Given the description of an element on the screen output the (x, y) to click on. 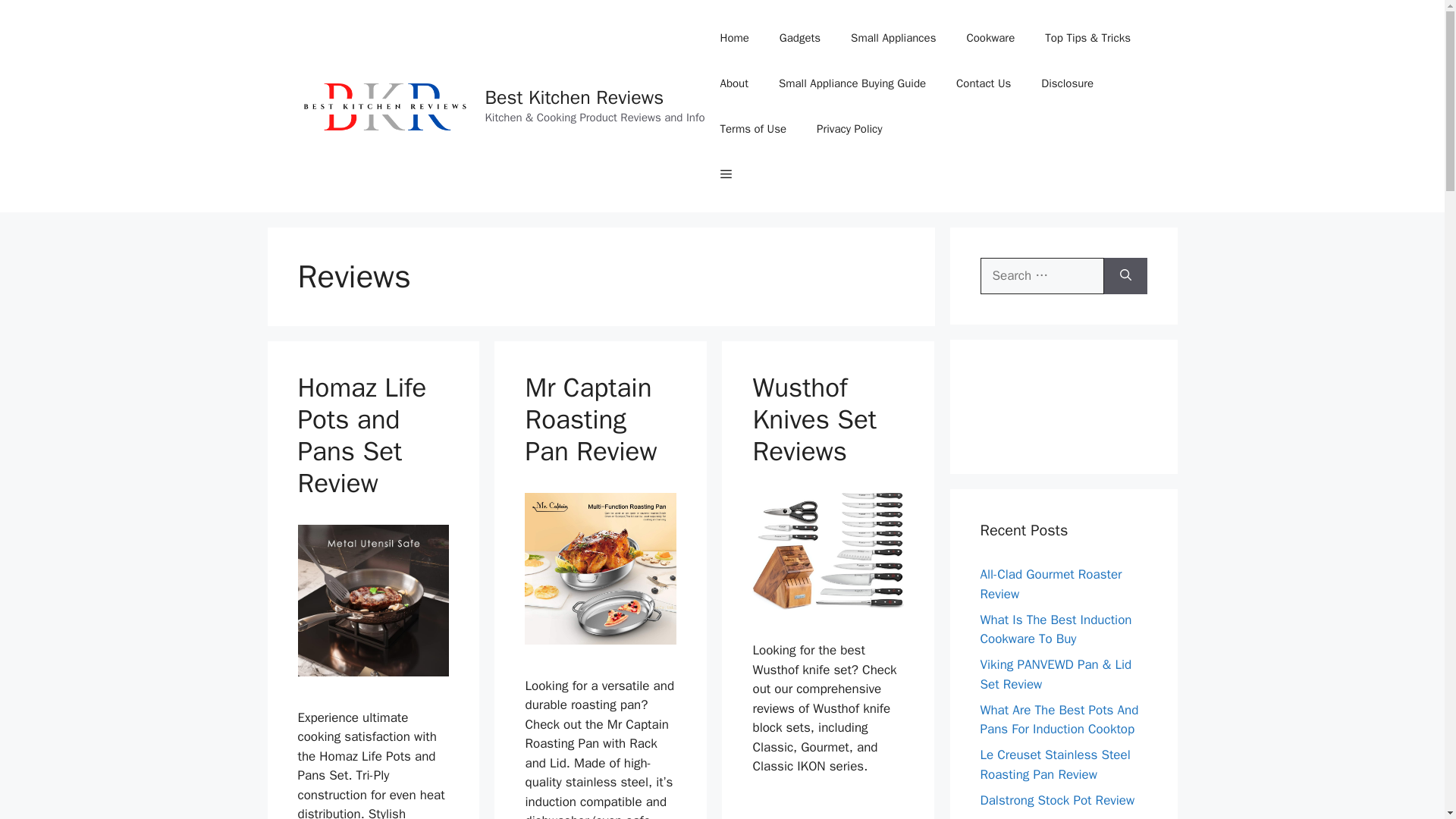
Small Appliances (892, 37)
Terms of Use (753, 128)
Wusthof Knives Set Reviews (814, 419)
Gadgets (799, 37)
Contact Us (983, 83)
Disclosure (1067, 83)
Cookware (989, 37)
Best Kitchen Reviews (573, 96)
Search for: (1041, 275)
Homaz Life Pots and Pans Set Review (361, 435)
